Given the description of an element on the screen output the (x, y) to click on. 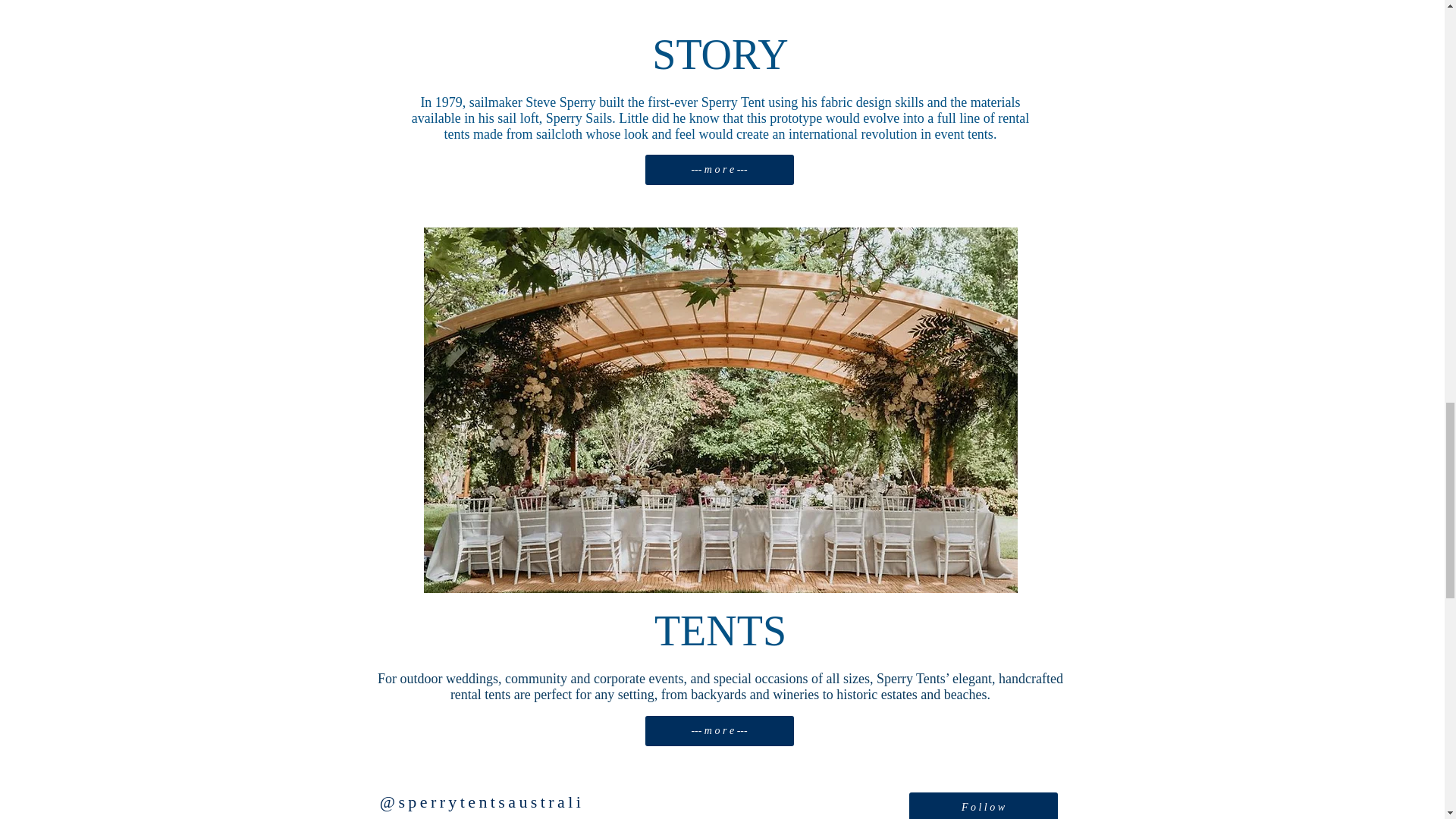
--- m o r e --- (719, 169)
STORY (719, 64)
--- m o r e --- (719, 730)
F o l l o w (982, 805)
TENTS (719, 641)
